Given the description of an element on the screen output the (x, y) to click on. 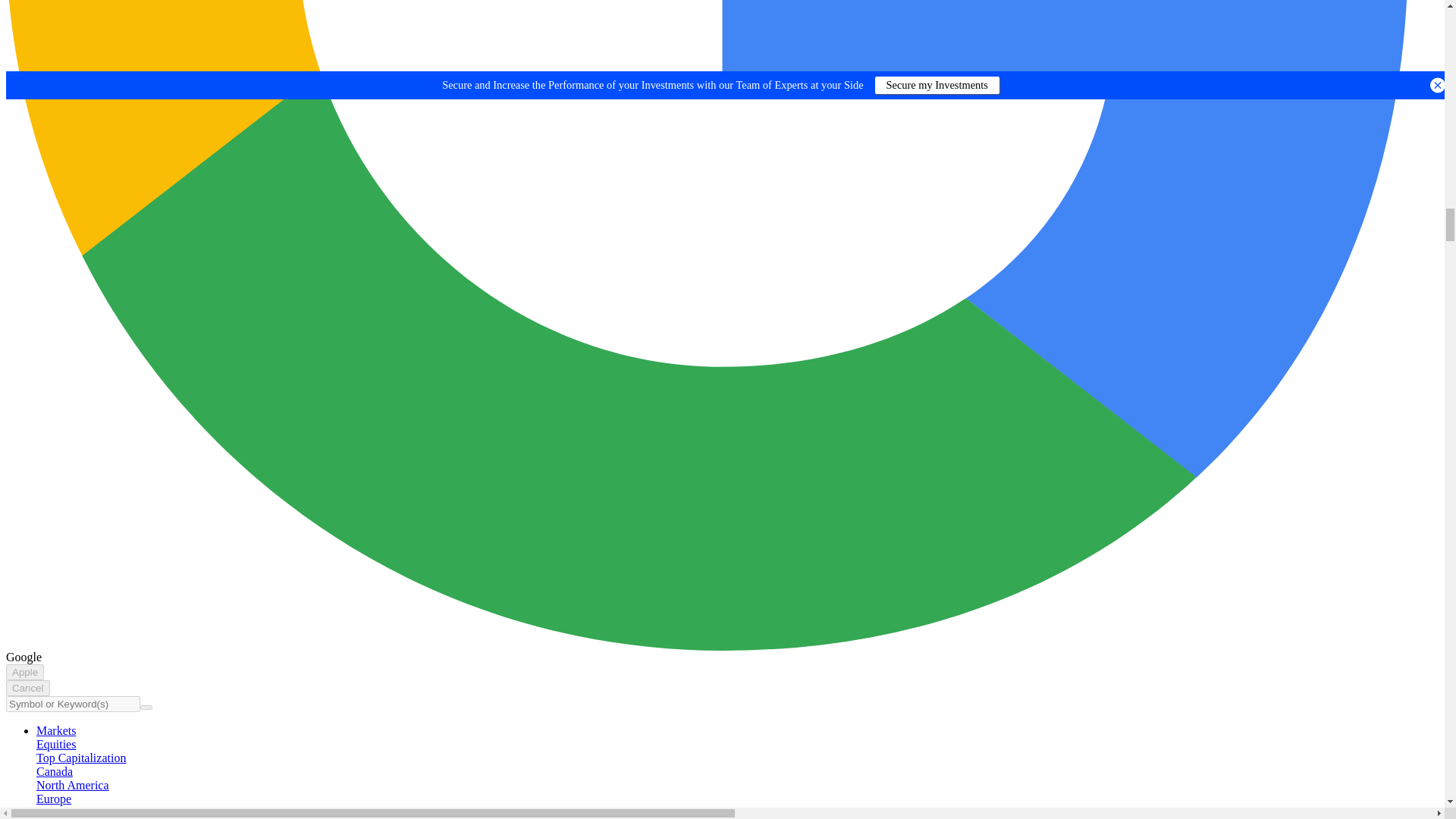
Top Capitalization (80, 757)
Market price europe (53, 798)
Europe (53, 798)
Top Capitalization (80, 757)
Markets (55, 730)
Market price asia (47, 812)
Equities (55, 744)
Equities (55, 744)
Cancel (27, 688)
Canada (54, 771)
Equities: canada (54, 771)
Apple (24, 672)
Asia (47, 812)
Search (145, 707)
North America (72, 784)
